Given the description of an element on the screen output the (x, y) to click on. 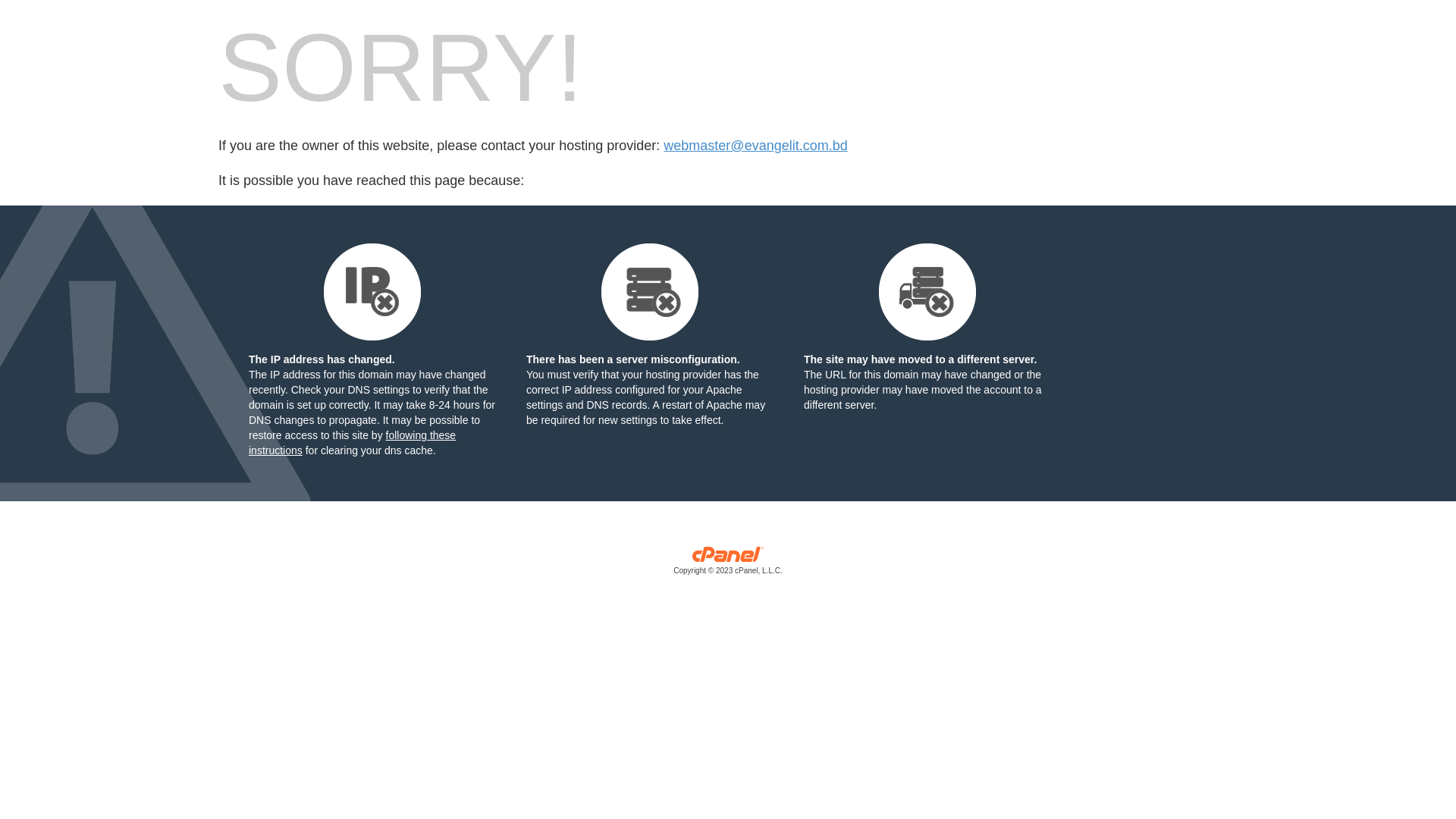
webmaster@evangelit.com.bd Element type: text (755, 145)
following these instructions Element type: text (351, 442)
